Given the description of an element on the screen output the (x, y) to click on. 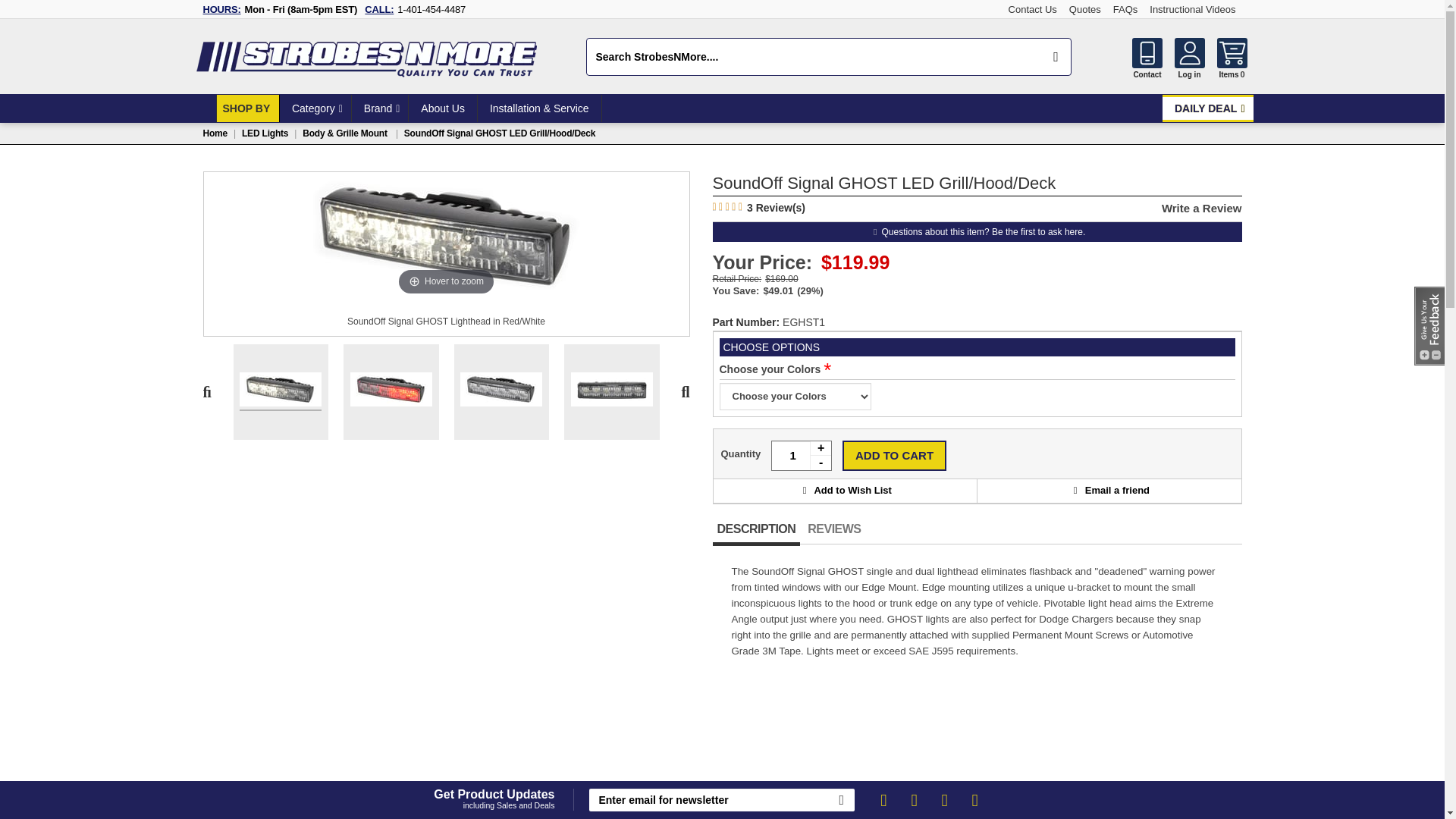
Items0 (1230, 68)
home (202, 108)
1 (801, 455)
Quotes (1084, 9)
Contact Us (1032, 9)
search button (1055, 56)
1-401-454-4487 (431, 9)
FAQs (1125, 9)
Contact (1147, 52)
SoundOff Signal GHOST Lighthead  (611, 391)
Instructional Videos (1191, 9)
contact us (1147, 52)
Category (315, 108)
SoundOff Signal GHOST Lighthead  (500, 391)
